Given the description of an element on the screen output the (x, y) to click on. 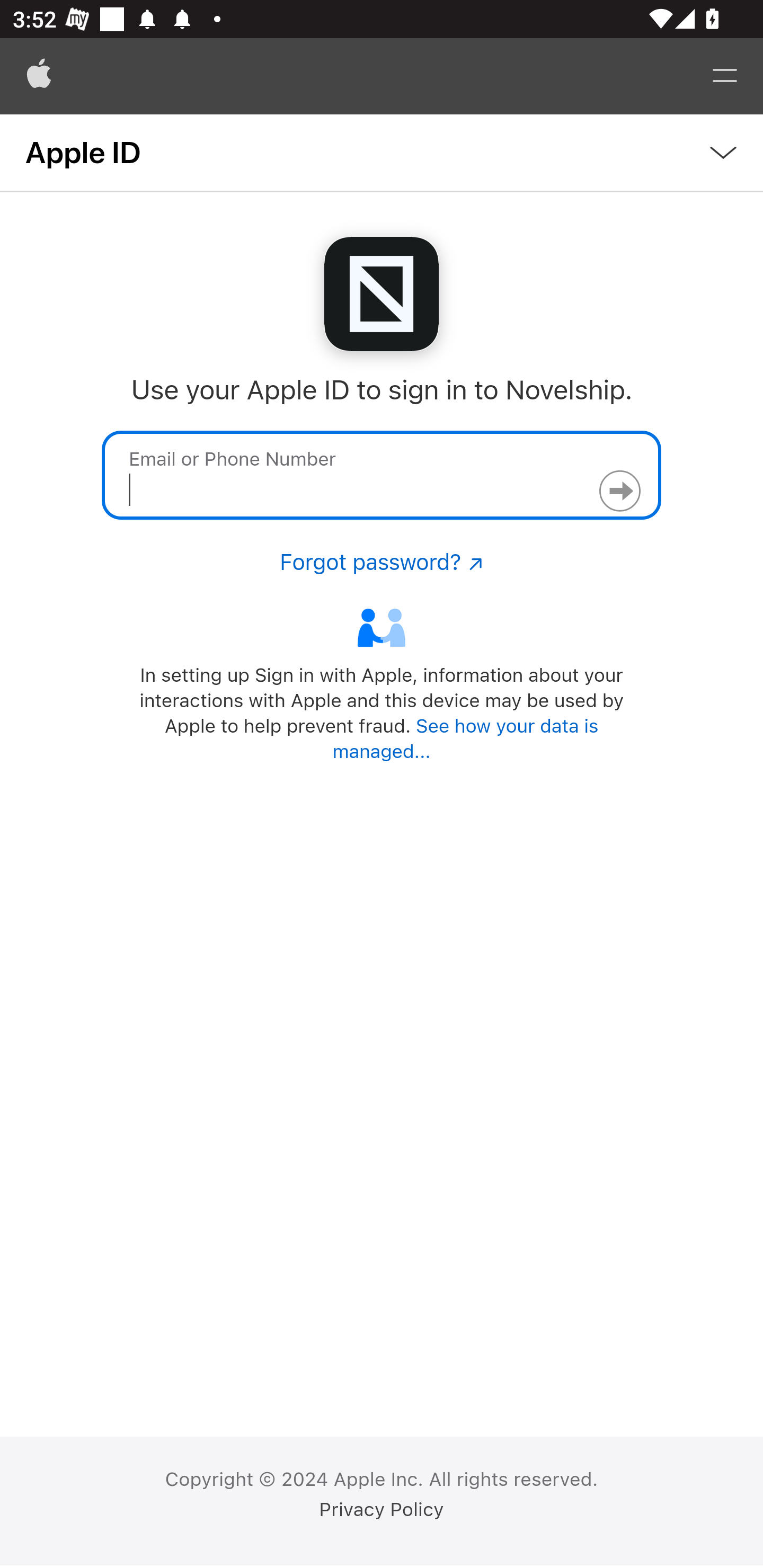
Apple (38, 75)
Menu (724, 75)
Continue (618, 490)
Privacy Policy (381, 1509)
